Given the description of an element on the screen output the (x, y) to click on. 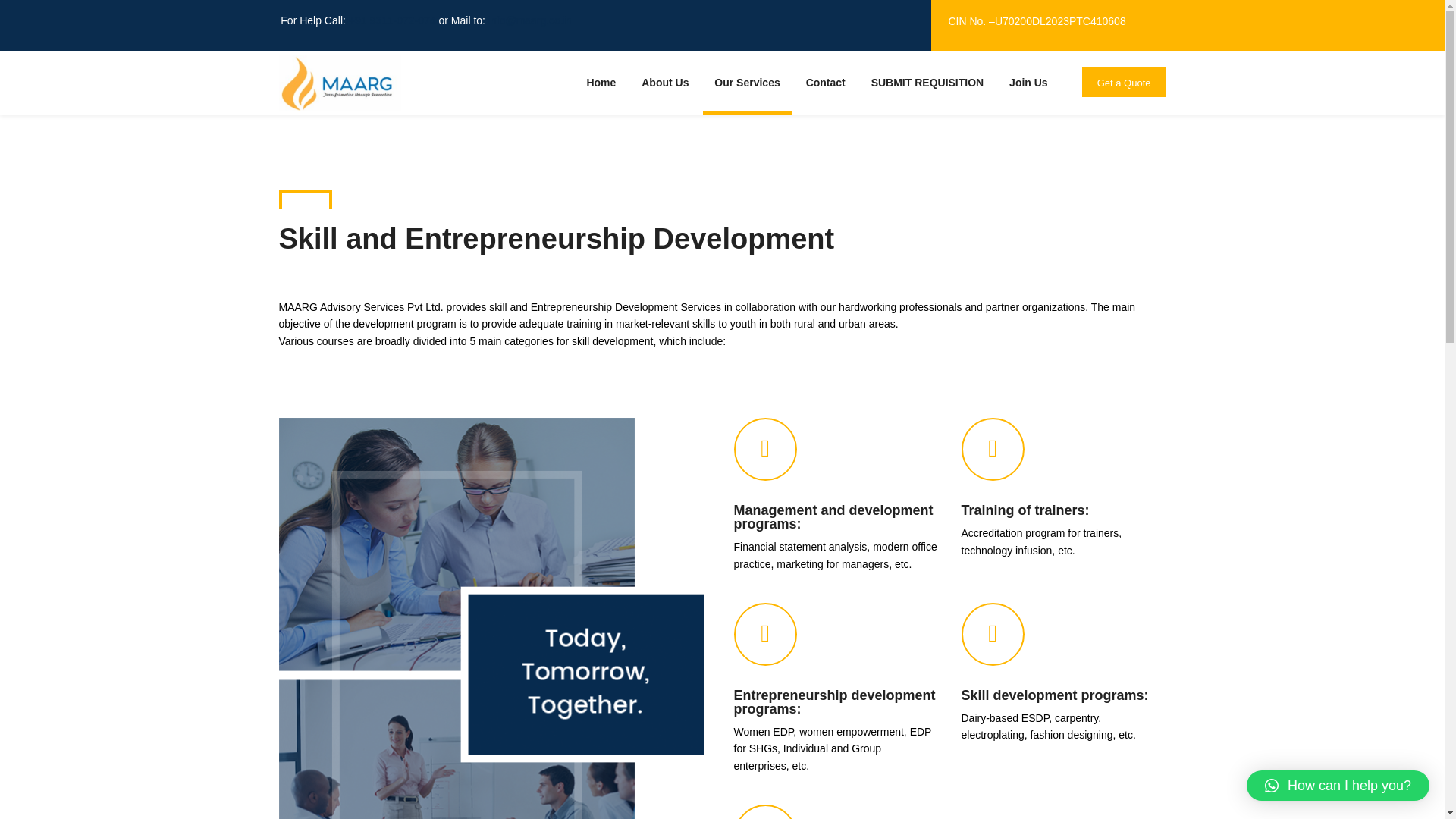
Join Us (1028, 95)
Contact (825, 95)
About Us (665, 95)
SUBMIT REQUISITION (927, 95)
Get a Quote (1123, 82)
Our Services (746, 95)
